Given the description of an element on the screen output the (x, y) to click on. 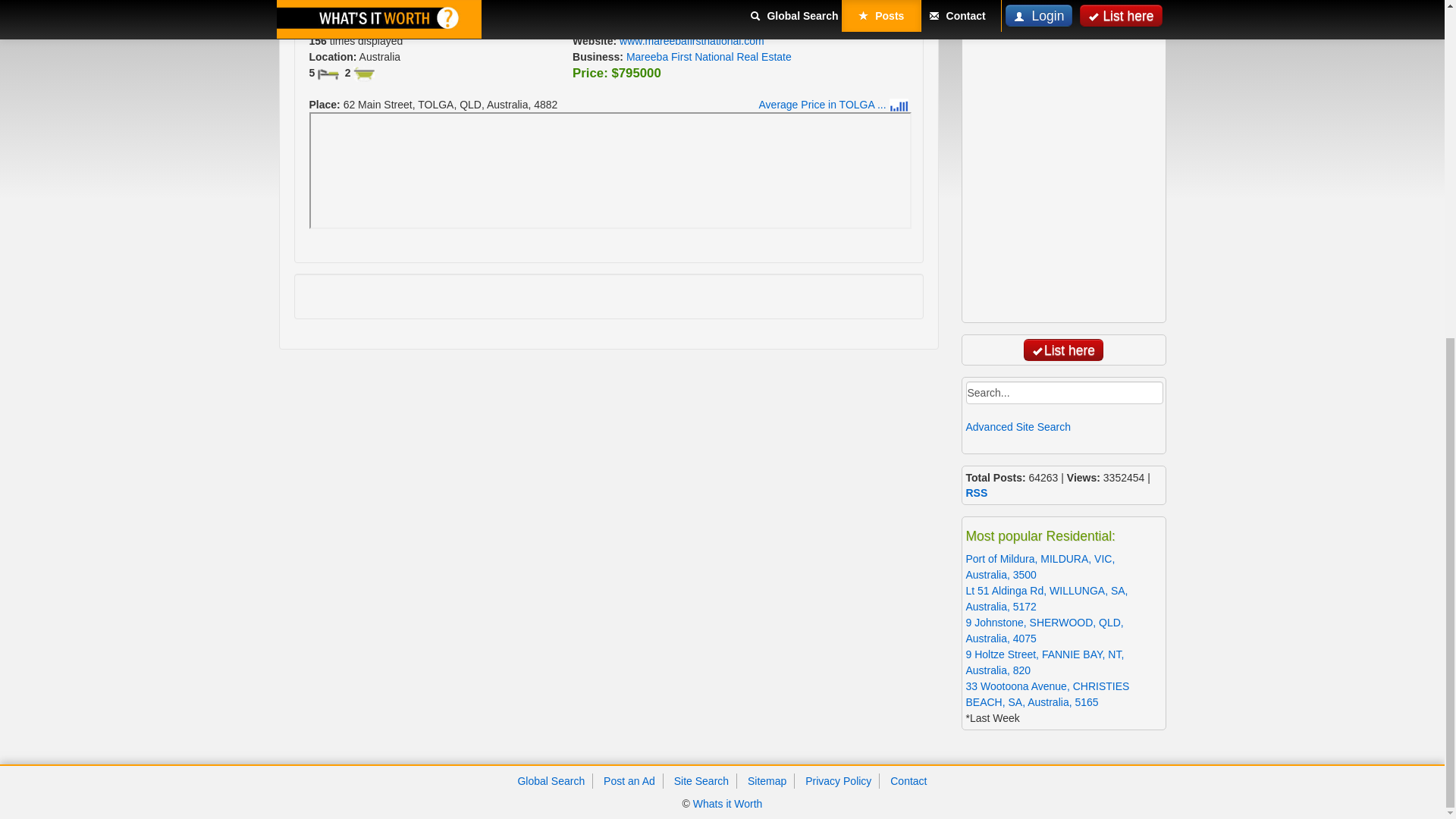
www.mareebafirstnational.com (692, 40)
Debbie Sweedman (693, 24)
Mareeba First National Real Estate (709, 56)
5 Bedroom Average For Sale Prices in TOLGA QLD (833, 104)
Average Price in TOLGA ... (833, 104)
2 Baths (363, 73)
Search... (1064, 392)
5 Beds (328, 73)
